Given the description of an element on the screen output the (x, y) to click on. 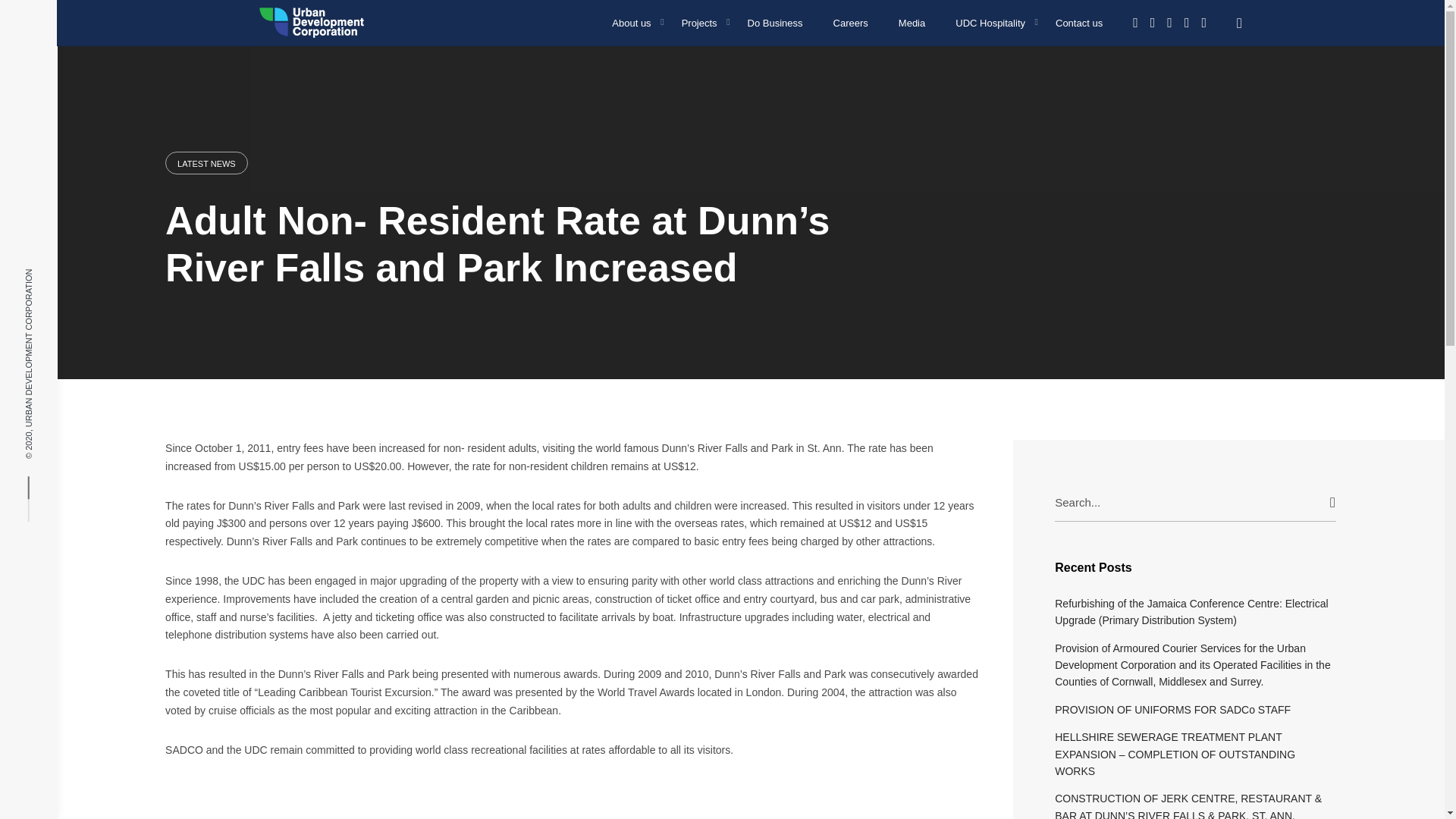
UDC Hospitality (990, 21)
Do Business (775, 21)
Careers (850, 21)
About us (630, 21)
Projects (699, 21)
Contact us (1079, 21)
Media (911, 21)
